Given the description of an element on the screen output the (x, y) to click on. 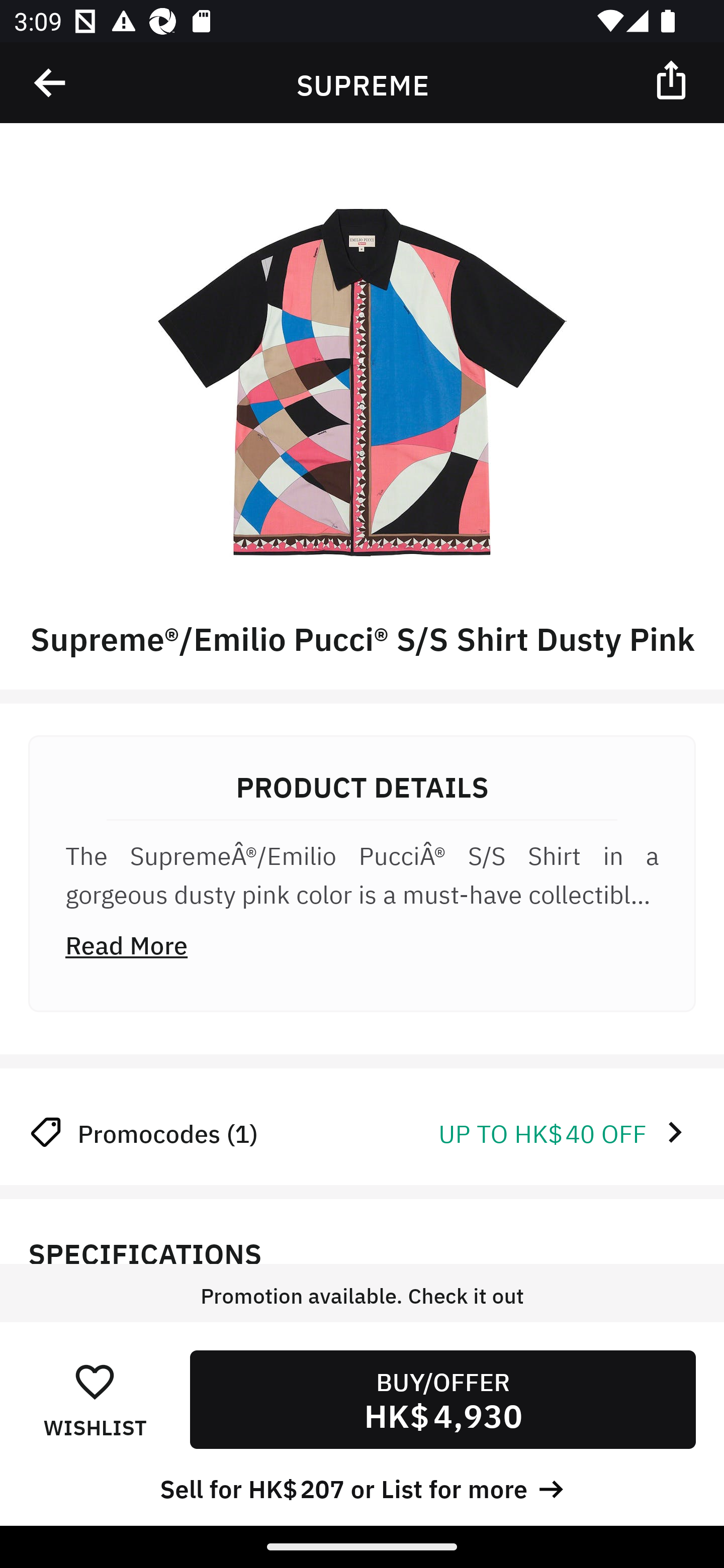
 (50, 83)
 (672, 79)
Promocodes (1) UP TO HK$ 40 OFF  (361, 1132)
BUY/OFFER HK$ 4,930 (442, 1399)
󰋕 (94, 1380)
Sell for HK$ 207 or List for more (361, 1486)
